Given the description of an element on the screen output the (x, y) to click on. 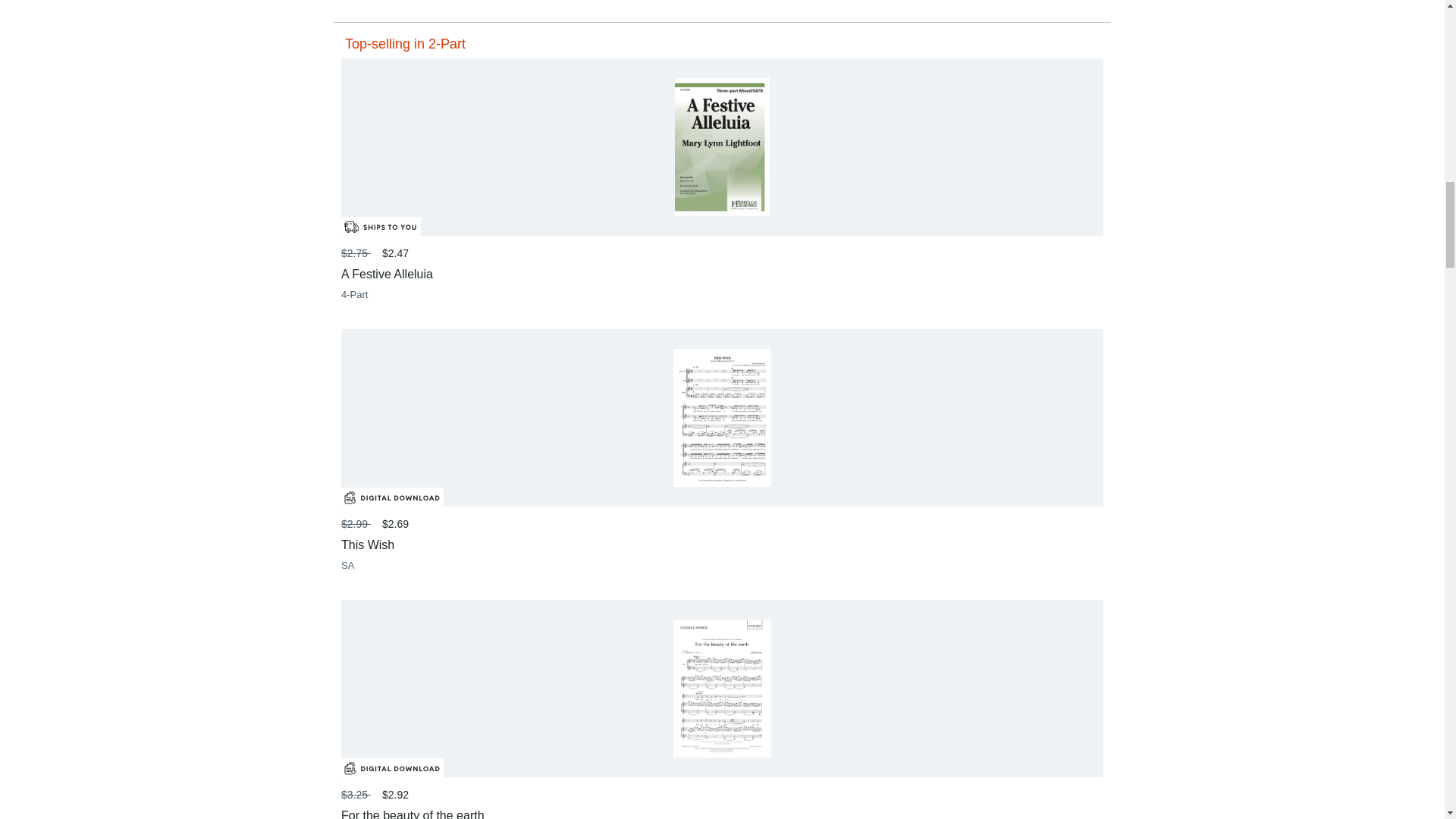
Book cover for This Wish (722, 417)
Book cover for For the beauty of the earth (722, 688)
Book cover for A Festive Alleluia (722, 146)
